Given the description of an element on the screen output the (x, y) to click on. 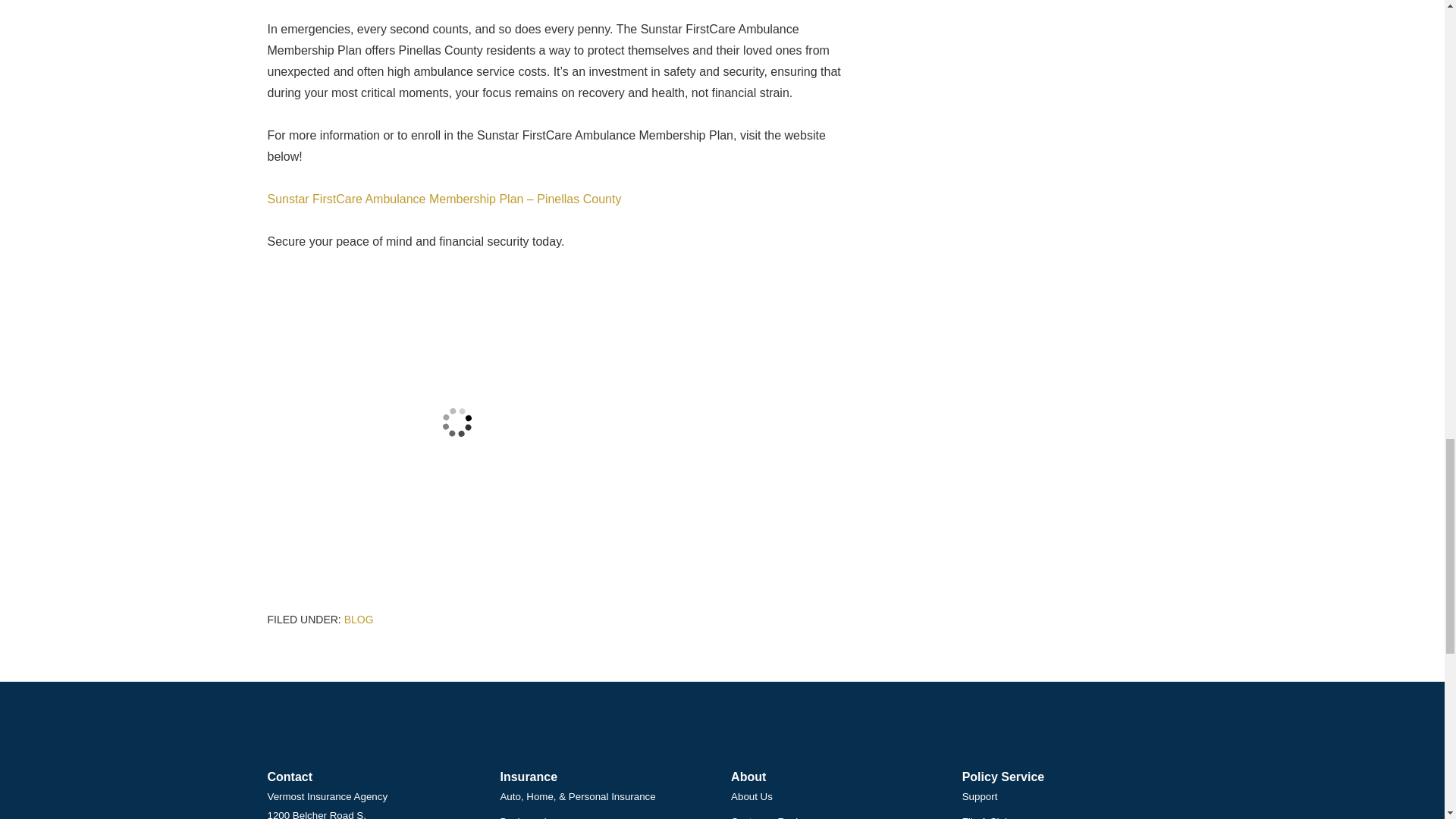
Pinellas County Ambulance membership (456, 422)
Blog (358, 619)
